Given the description of an element on the screen output the (x, y) to click on. 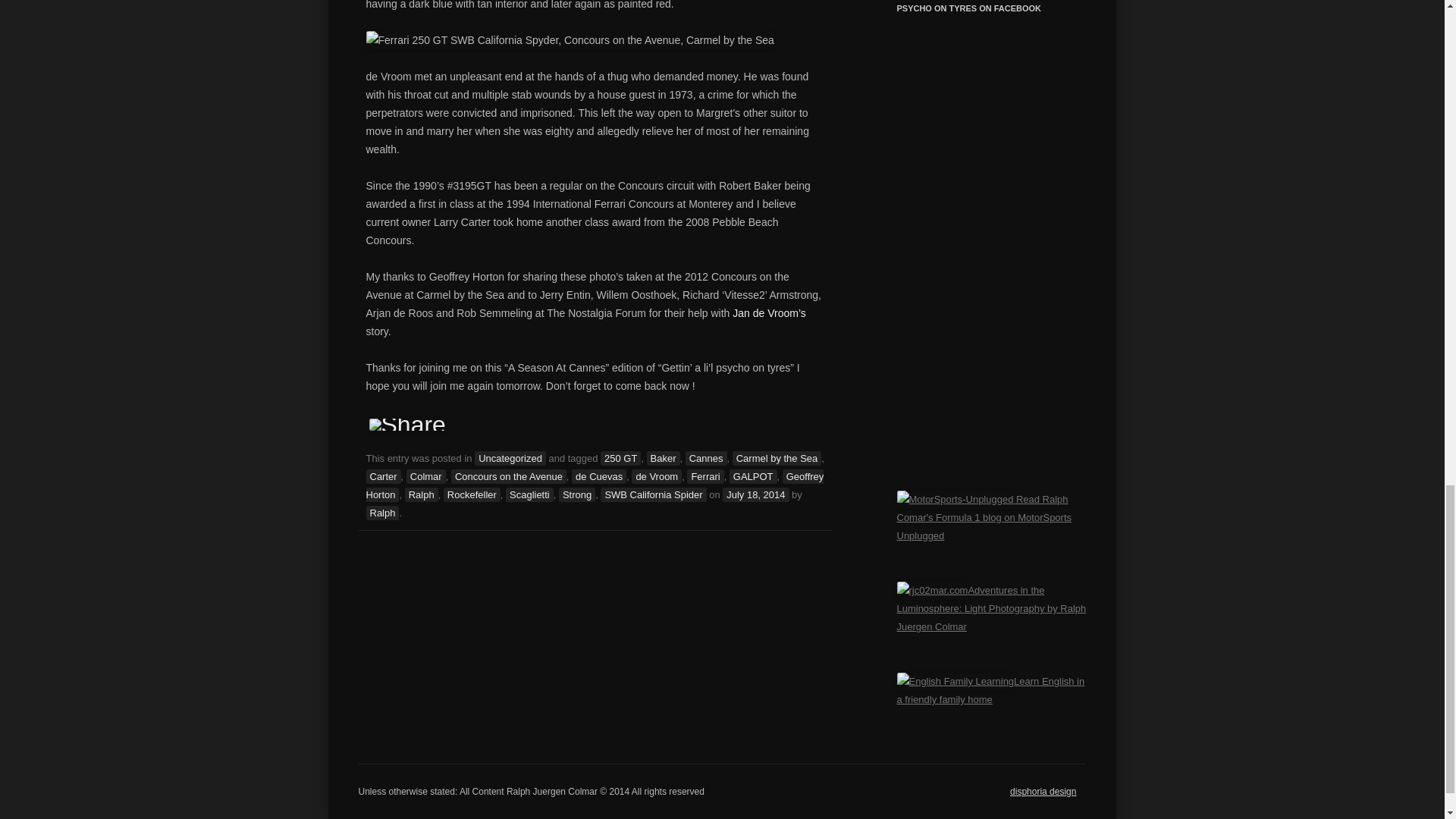
de Cuevas (599, 476)
Cannes (705, 458)
Ferrari (705, 476)
12:01 am (755, 494)
Uncategorized (510, 458)
SWB California Spider (652, 494)
Concours on the Avenue (508, 476)
Carmel by the Sea (777, 458)
250 GT (619, 458)
July 18, 2014 (755, 494)
